Given the description of an element on the screen output the (x, y) to click on. 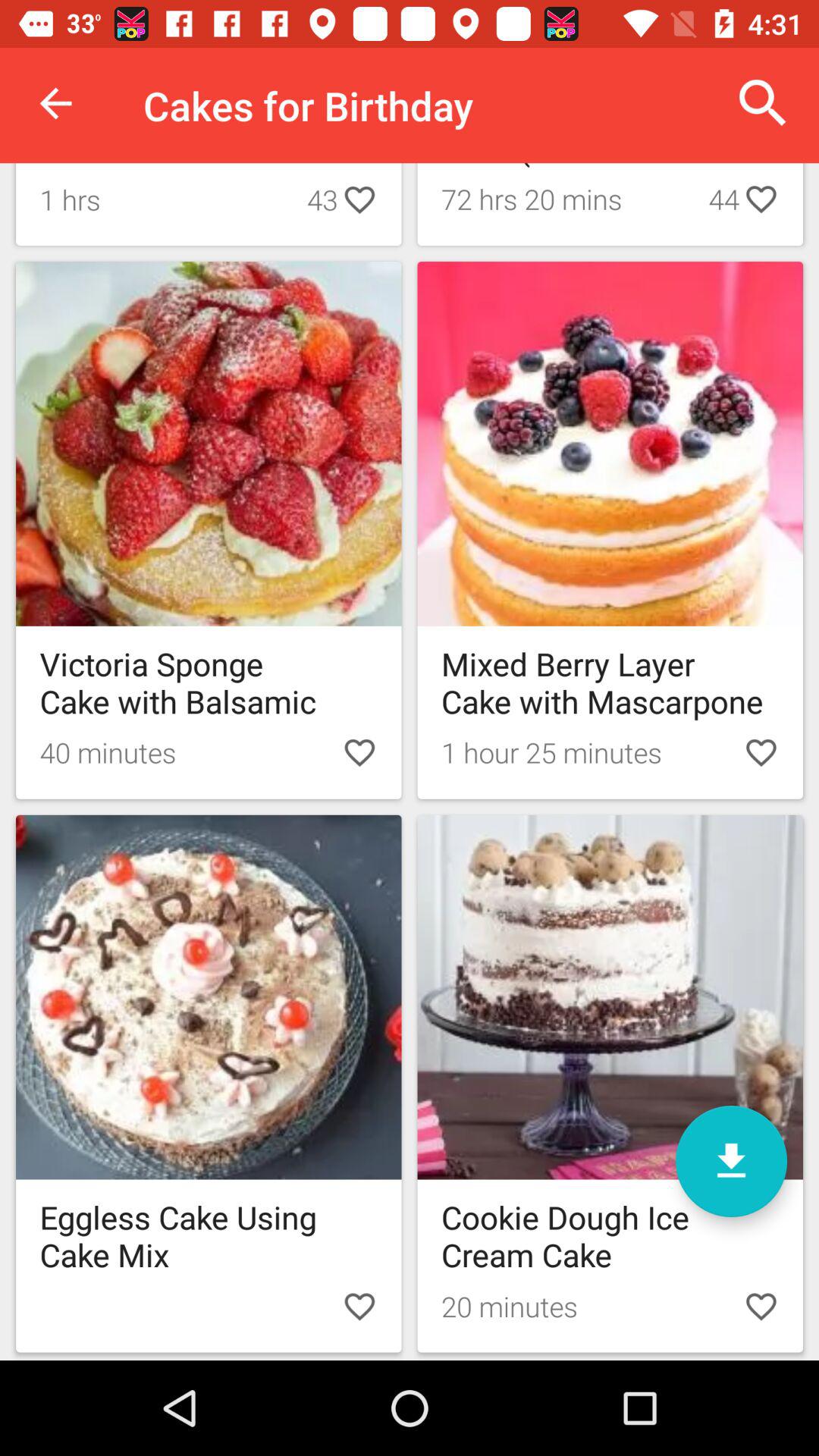
download selected recipe (731, 1161)
